Given the description of an element on the screen output the (x, y) to click on. 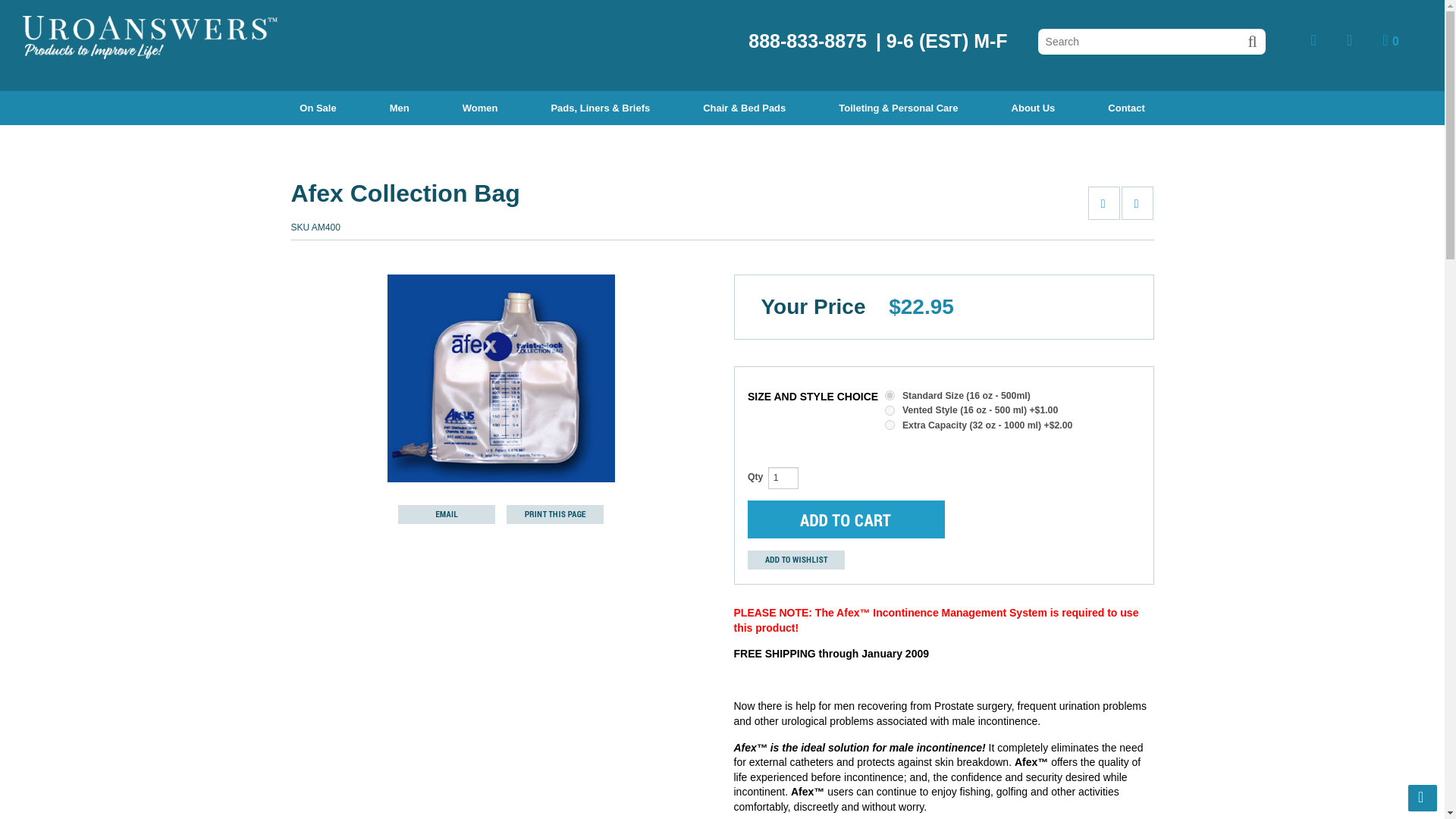
Solutions for Women's Stress, Urge and Overflow Incontinence (479, 107)
About Us (1033, 107)
Contact (1125, 107)
588b5f5c-bae9-4a62-8592-a7a77cda6b7d (890, 410)
Bed and Chair Pads for Urinary Incontinence (744, 107)
27245da1-d398-4e5f-81a4-1507f41f8187 (890, 395)
e73304ad-a694-4df7-b015-6708b0e3cf52 (890, 424)
1 (782, 477)
Women (479, 107)
On Sale (317, 107)
Chairlike and Portable  Bedside Potties or Commodes (898, 107)
Men (398, 107)
Back to Top (1422, 797)
0 (1390, 39)
